Given the description of an element on the screen output the (x, y) to click on. 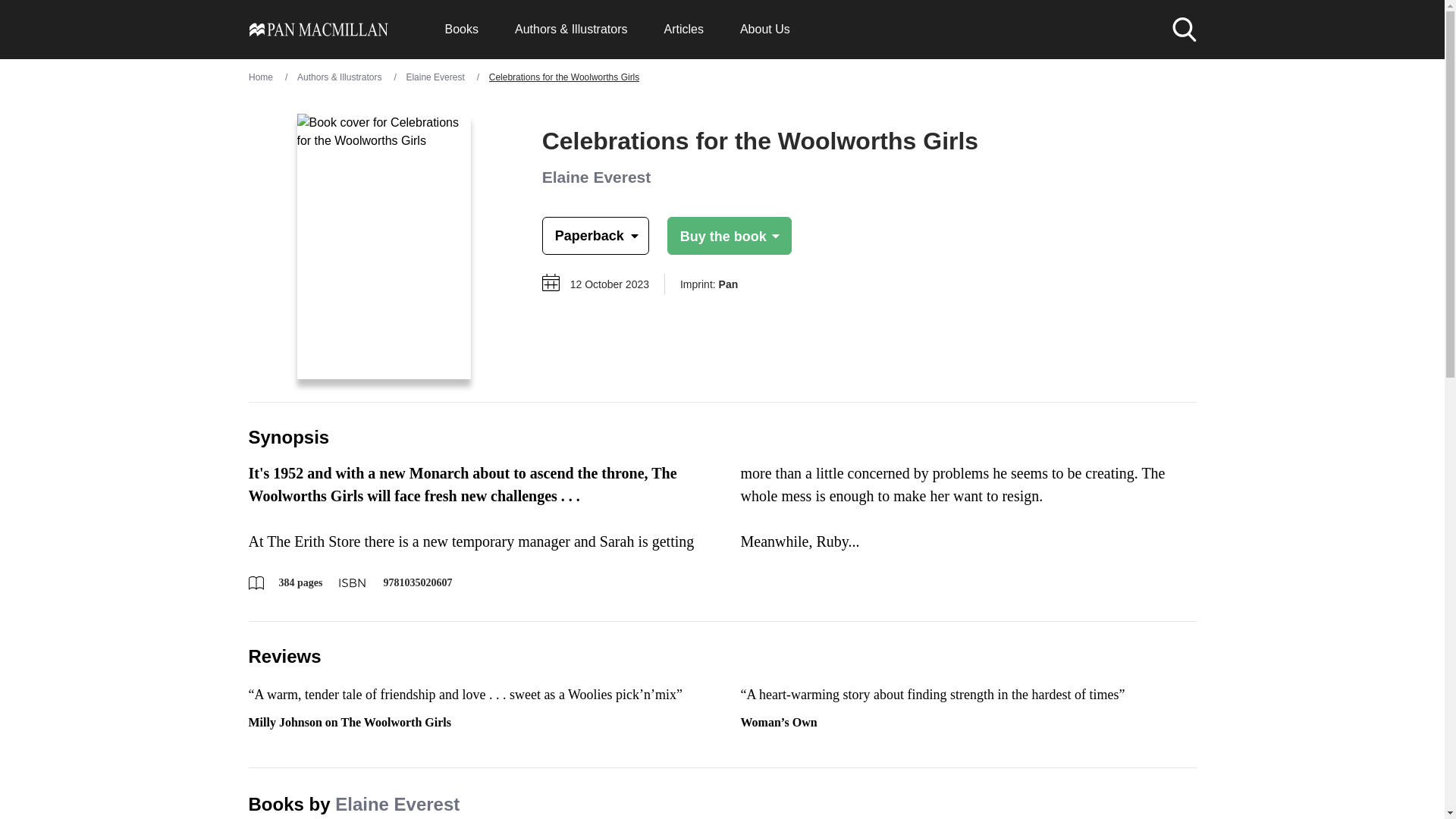
Books (460, 29)
